Given the description of an element on the screen output the (x, y) to click on. 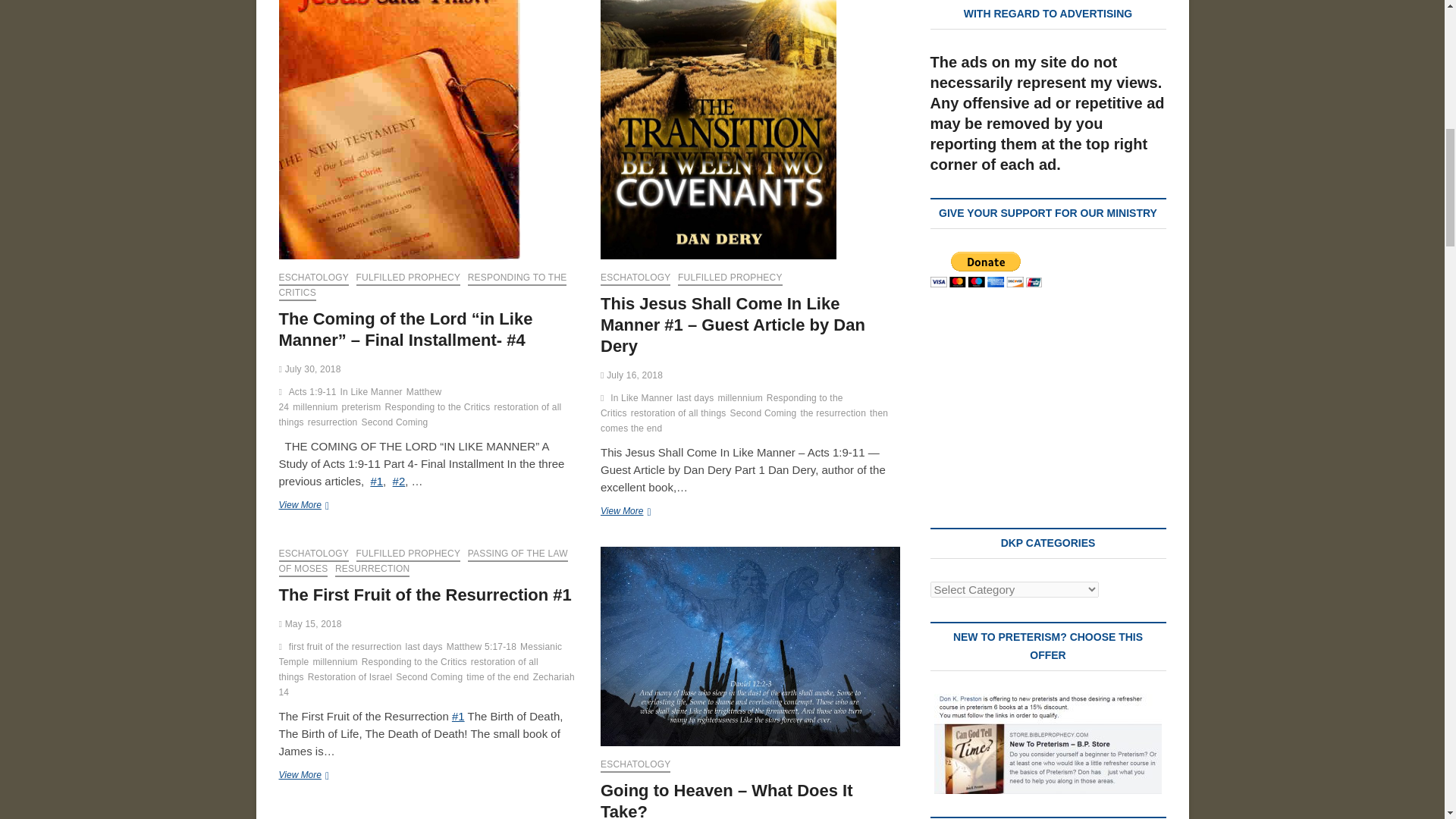
Matthew 24 (360, 401)
restoration of all things (420, 416)
In Like Manner (373, 393)
FULFILLED PROPHECY (408, 278)
July 30, 2018 (309, 368)
RESPONDING TO THE CRITICS (423, 286)
preterism (363, 409)
May 15, 2018 (310, 624)
ESCHATOLOGY (314, 278)
Responding to the Critics (438, 409)
Acts 1:9-11 (314, 393)
July 30, 2018 (309, 368)
millennium (316, 409)
July 16, 2018 (630, 375)
